Given the description of an element on the screen output the (x, y) to click on. 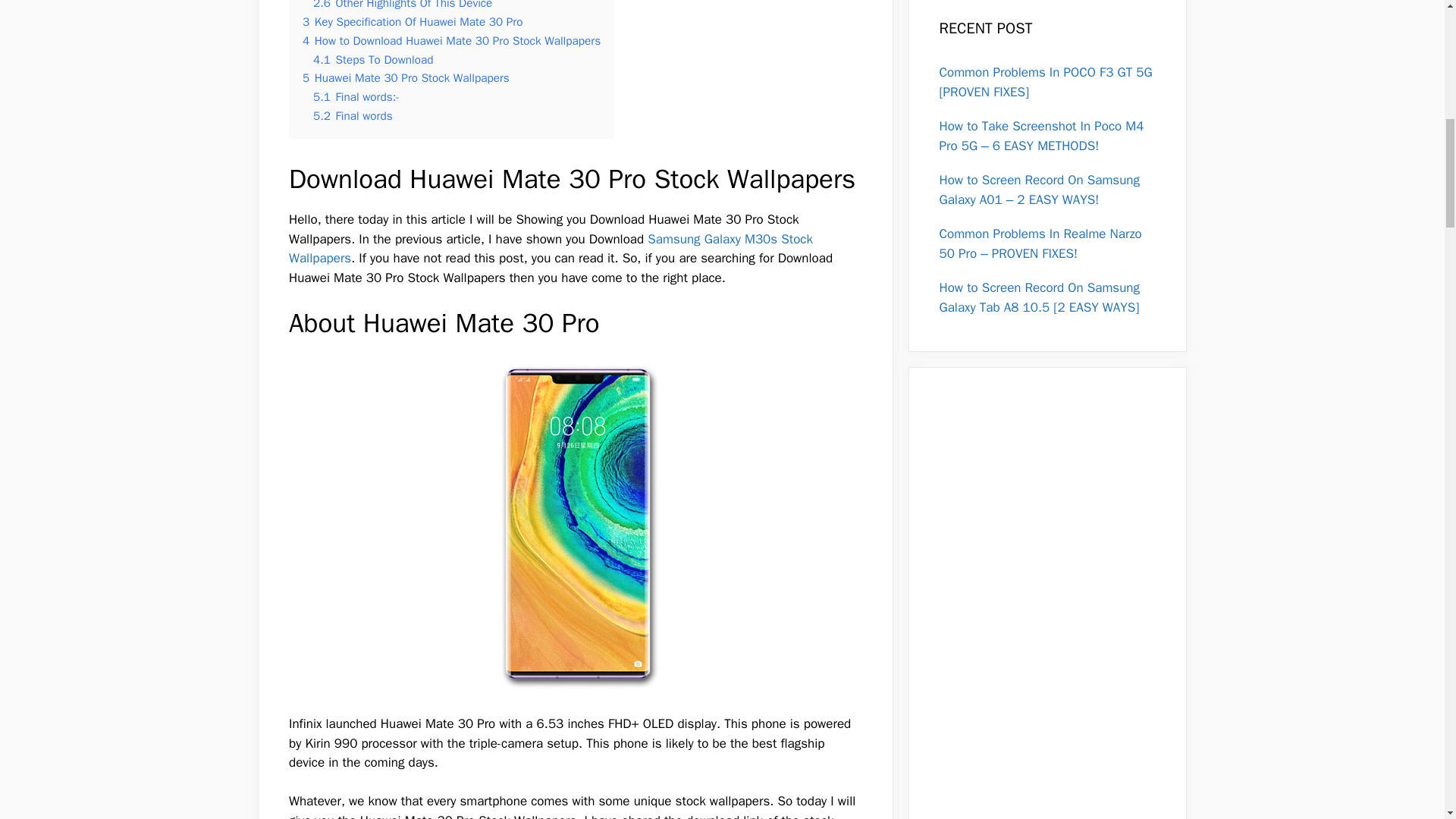
5.1 Final words:- (355, 96)
5 Huawei Mate 30 Pro Stock Wallpapers (405, 77)
Scroll back to top (1406, 720)
Samsung Galaxy M30s Stock Wallpapers (550, 248)
2.6 Other Highlights Of This Device (402, 5)
4 How to Download Huawei Mate 30 Pro Stock Wallpapers (450, 40)
4.1 Steps To Download (372, 59)
3 Key Specification Of Huawei Mate 30 Pro (412, 21)
5.2 Final words (353, 115)
